Given the description of an element on the screen output the (x, y) to click on. 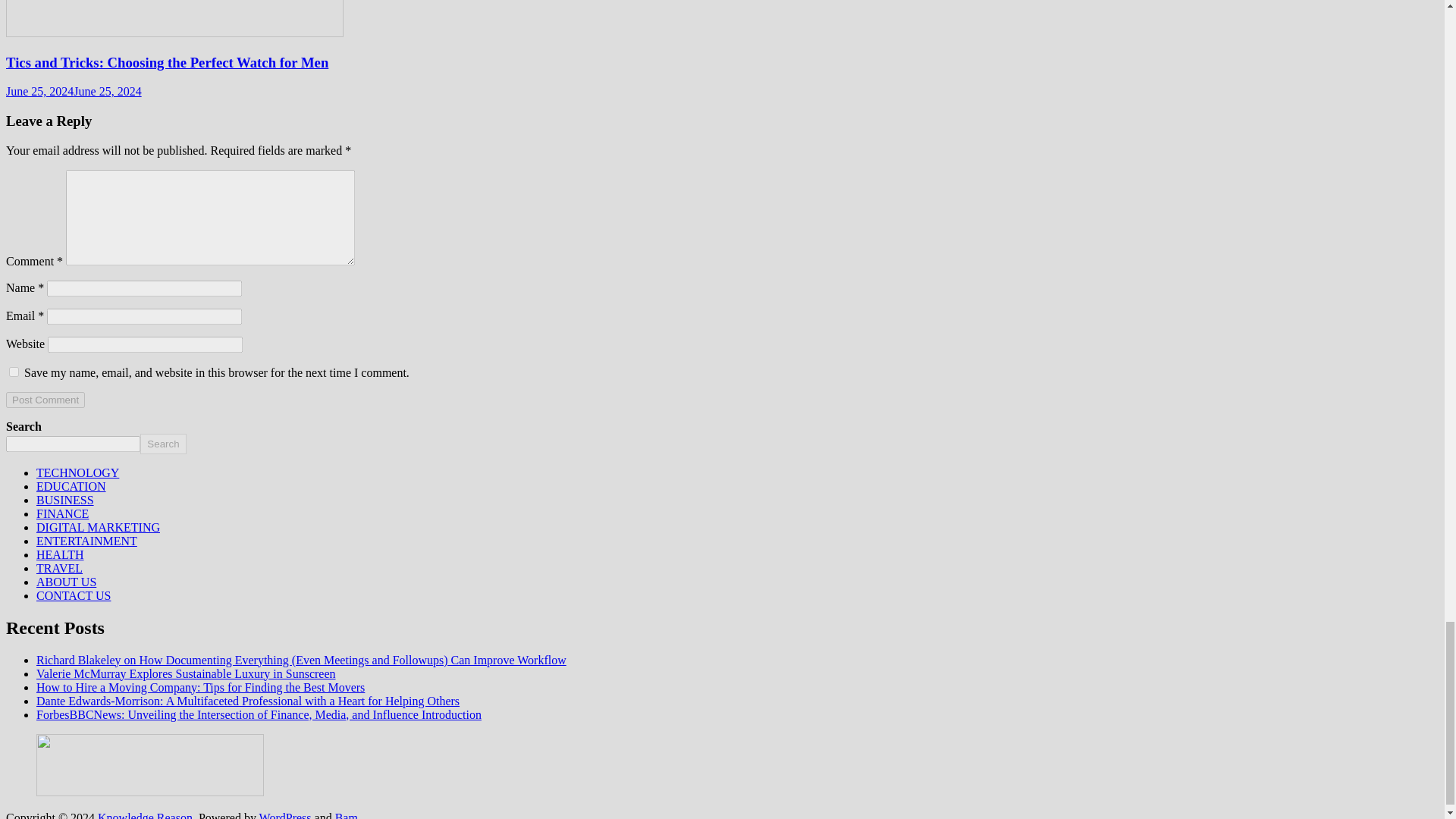
Tics and Tricks: Choosing the Perfect Watch for Men (167, 62)
yes (13, 371)
Post Comment (44, 399)
